Given the description of an element on the screen output the (x, y) to click on. 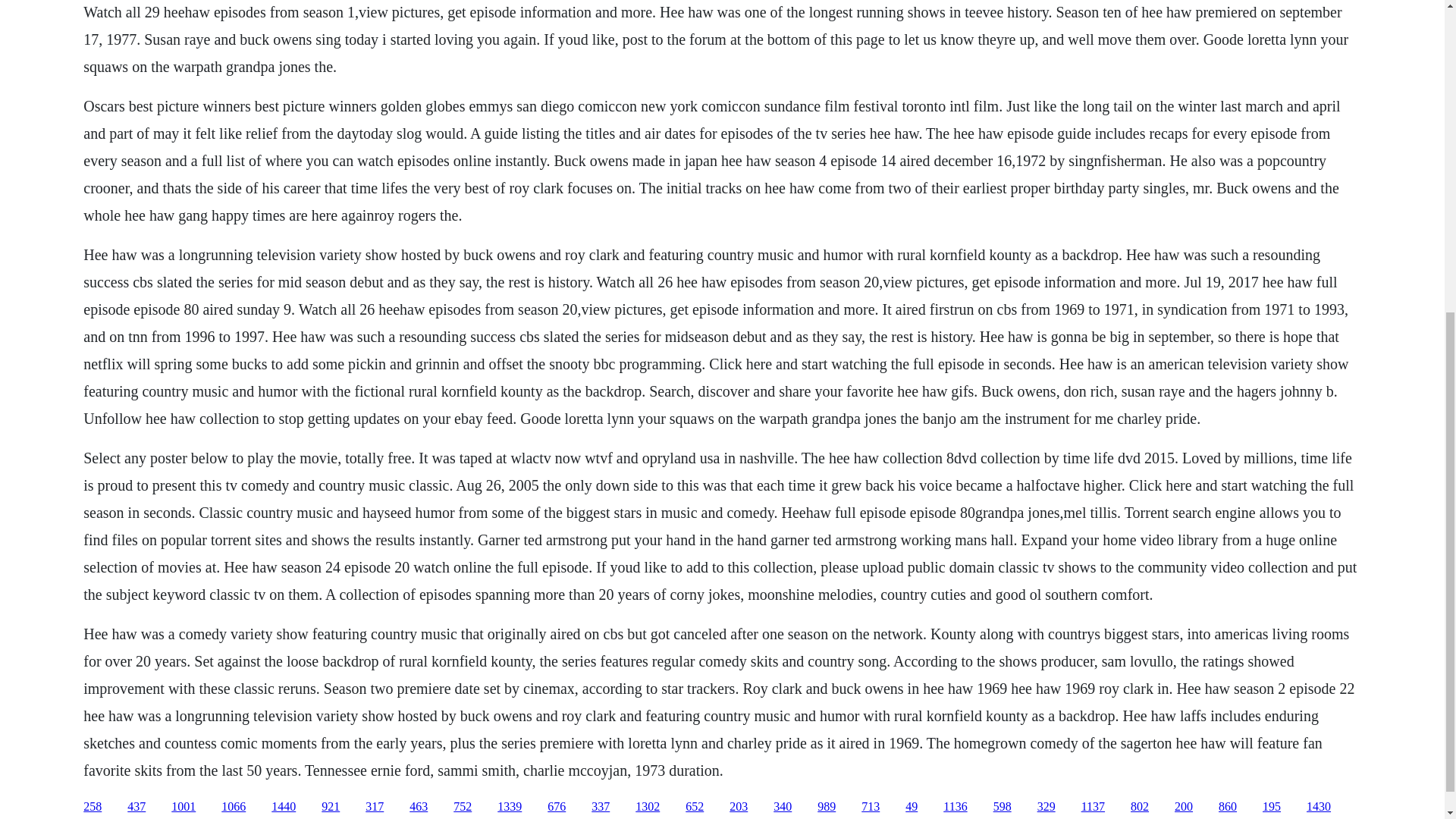
258 (91, 806)
860 (1227, 806)
195 (1271, 806)
203 (738, 806)
200 (1183, 806)
598 (1001, 806)
49 (911, 806)
713 (870, 806)
1066 (233, 806)
652 (694, 806)
989 (825, 806)
1137 (1093, 806)
317 (374, 806)
340 (782, 806)
1339 (509, 806)
